Given the description of an element on the screen output the (x, y) to click on. 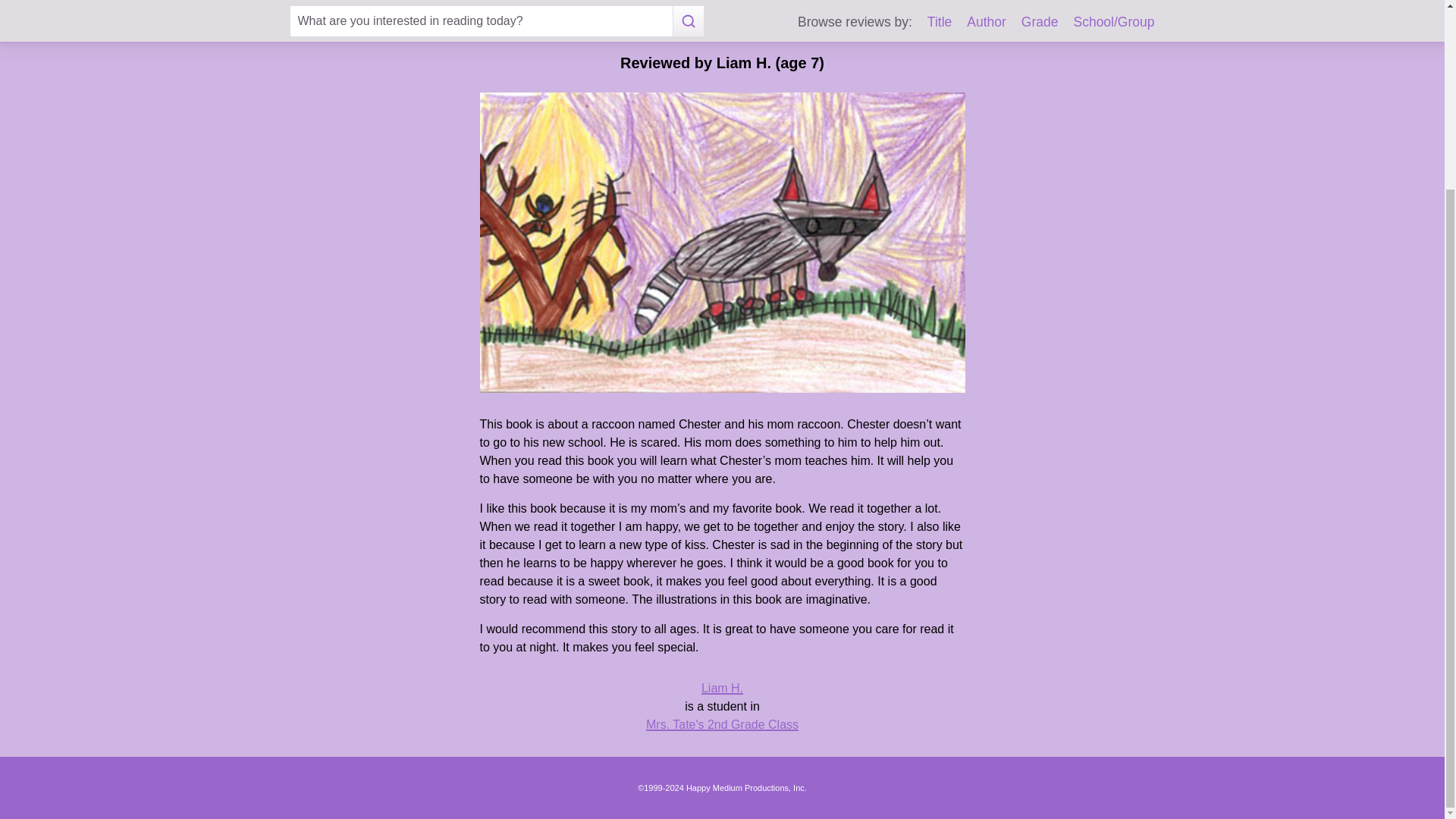
Mrs. Tate's 2nd Grade Class (721, 724)
Liam H. (721, 687)
